Given the description of an element on the screen output the (x, y) to click on. 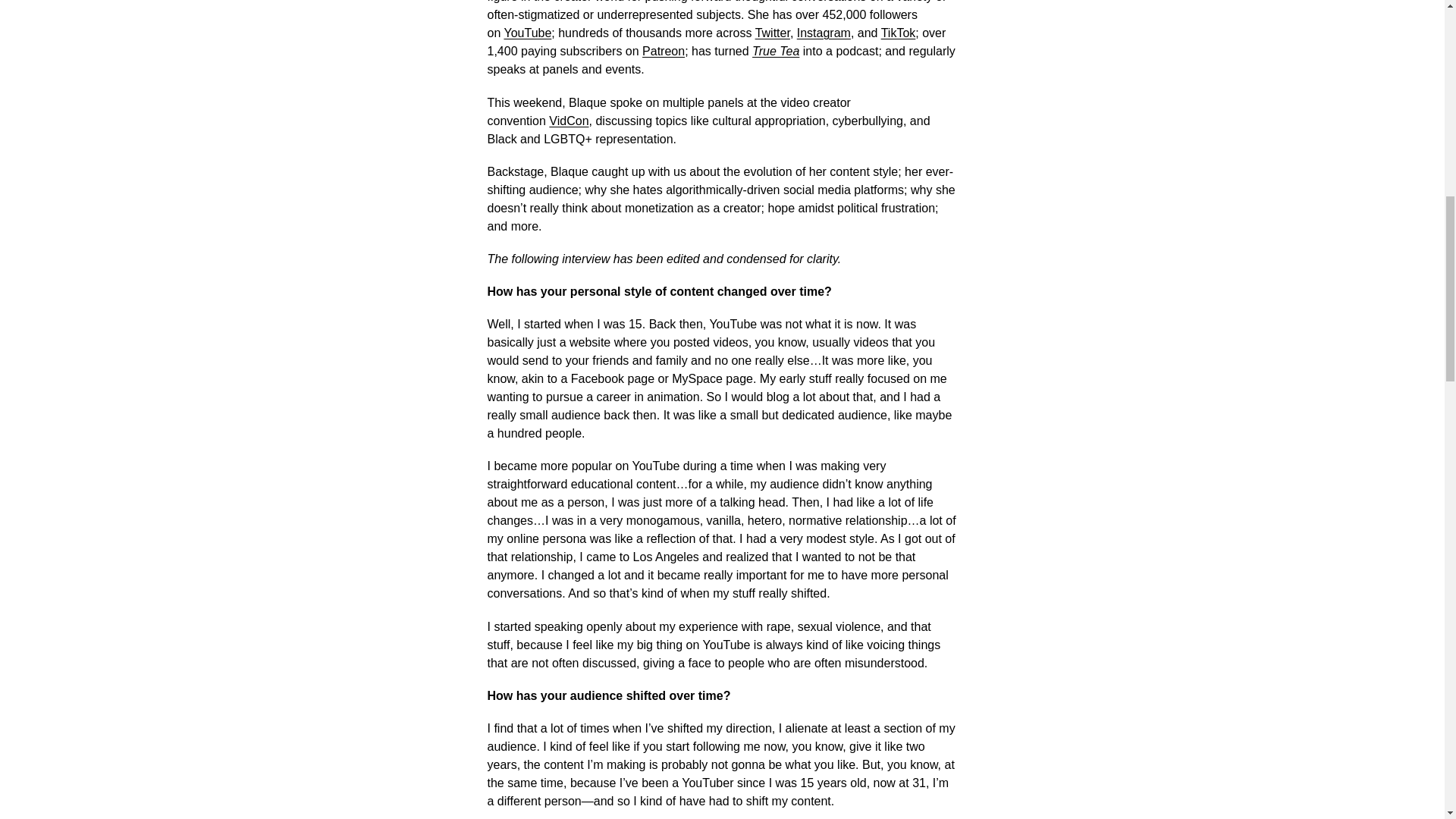
VidCon (568, 120)
True Tea (775, 51)
Patreon (663, 51)
Twitter (772, 32)
TikTok (897, 32)
Instagram (823, 32)
YouTube (527, 32)
